Given the description of an element on the screen output the (x, y) to click on. 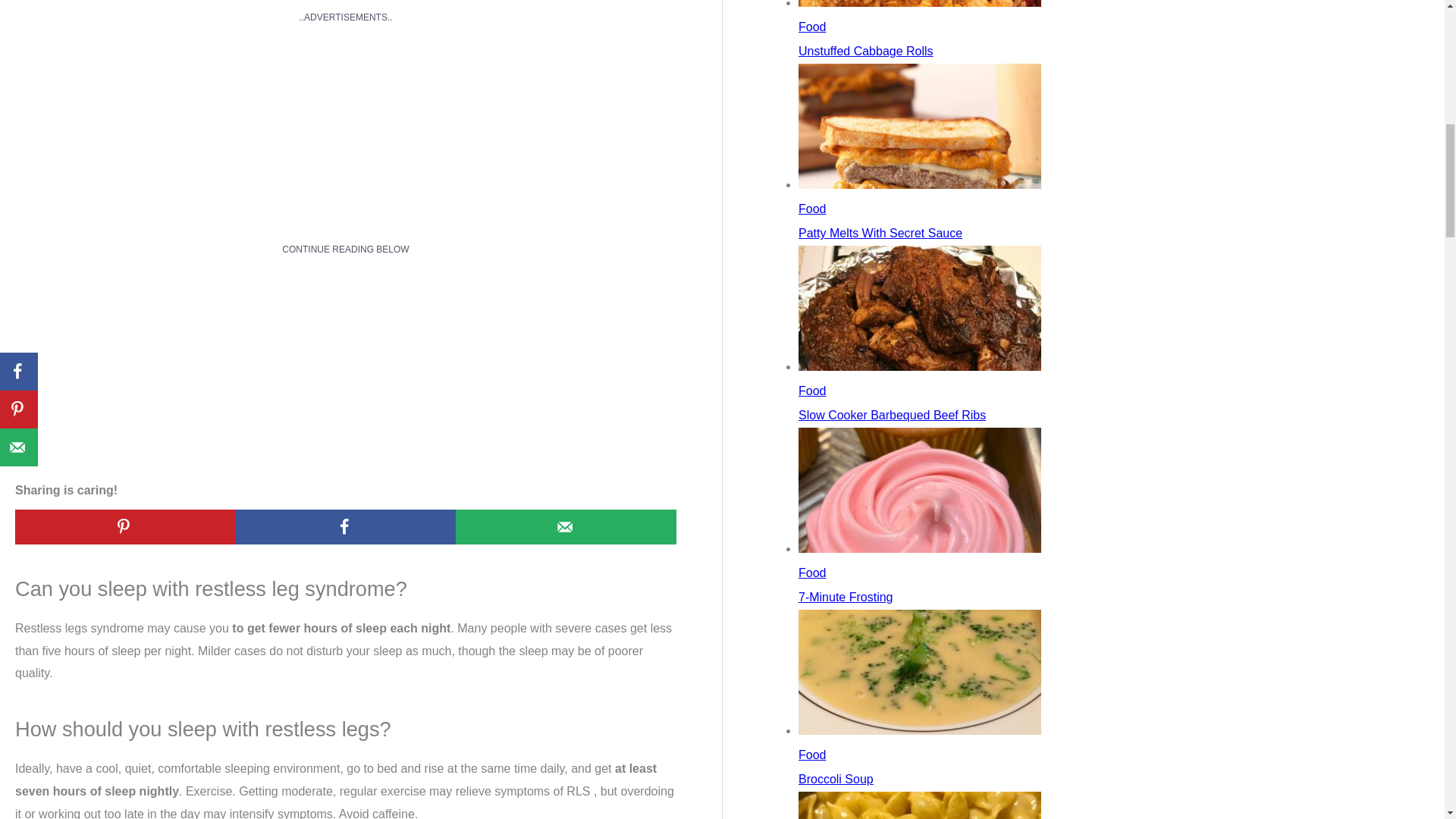
Share on Facebook (346, 526)
Send over email (566, 526)
Advertisement (344, 74)
Save to Pinterest (124, 526)
